Given the description of an element on the screen output the (x, y) to click on. 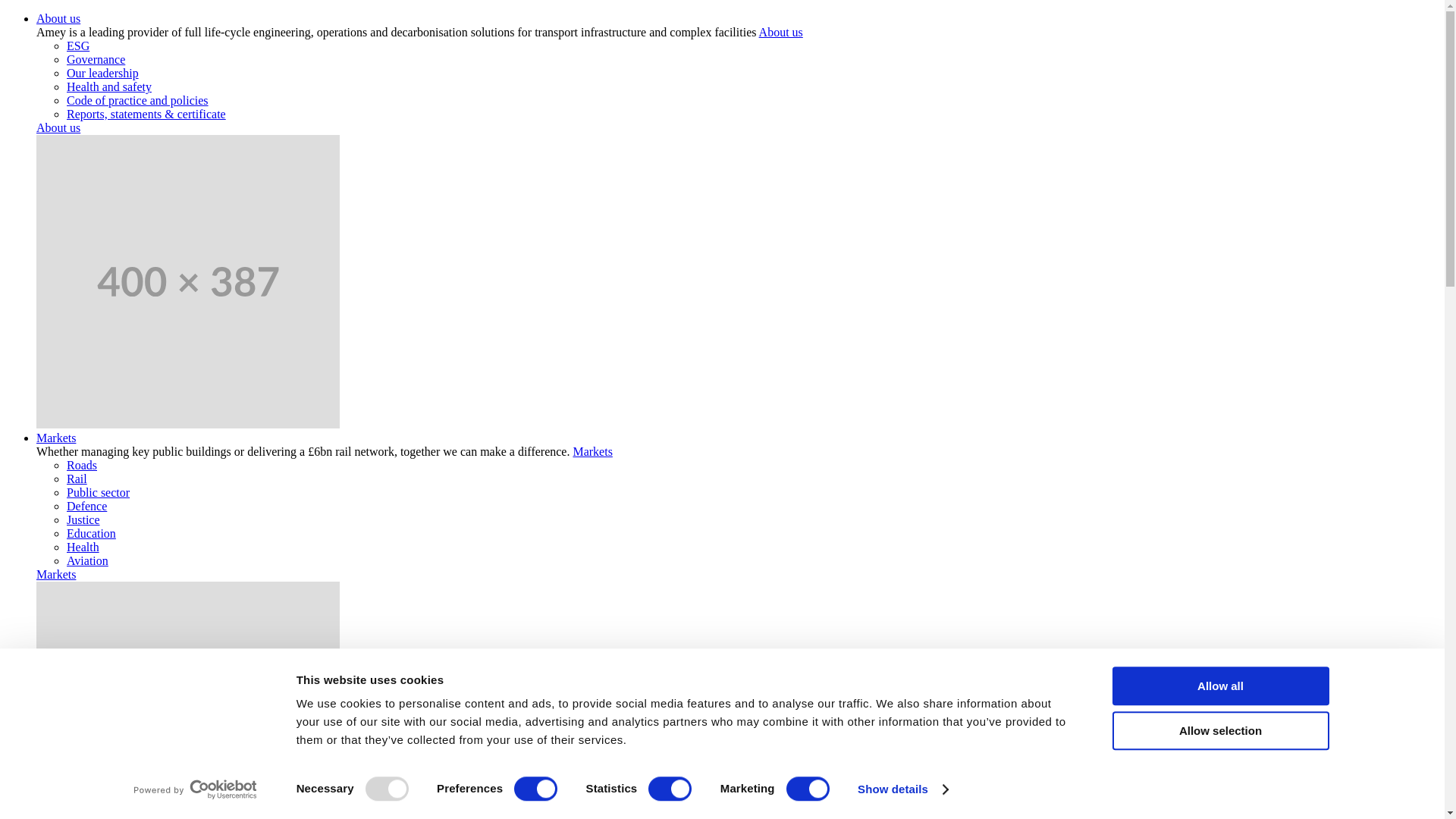
Show details (902, 789)
